Given the description of an element on the screen output the (x, y) to click on. 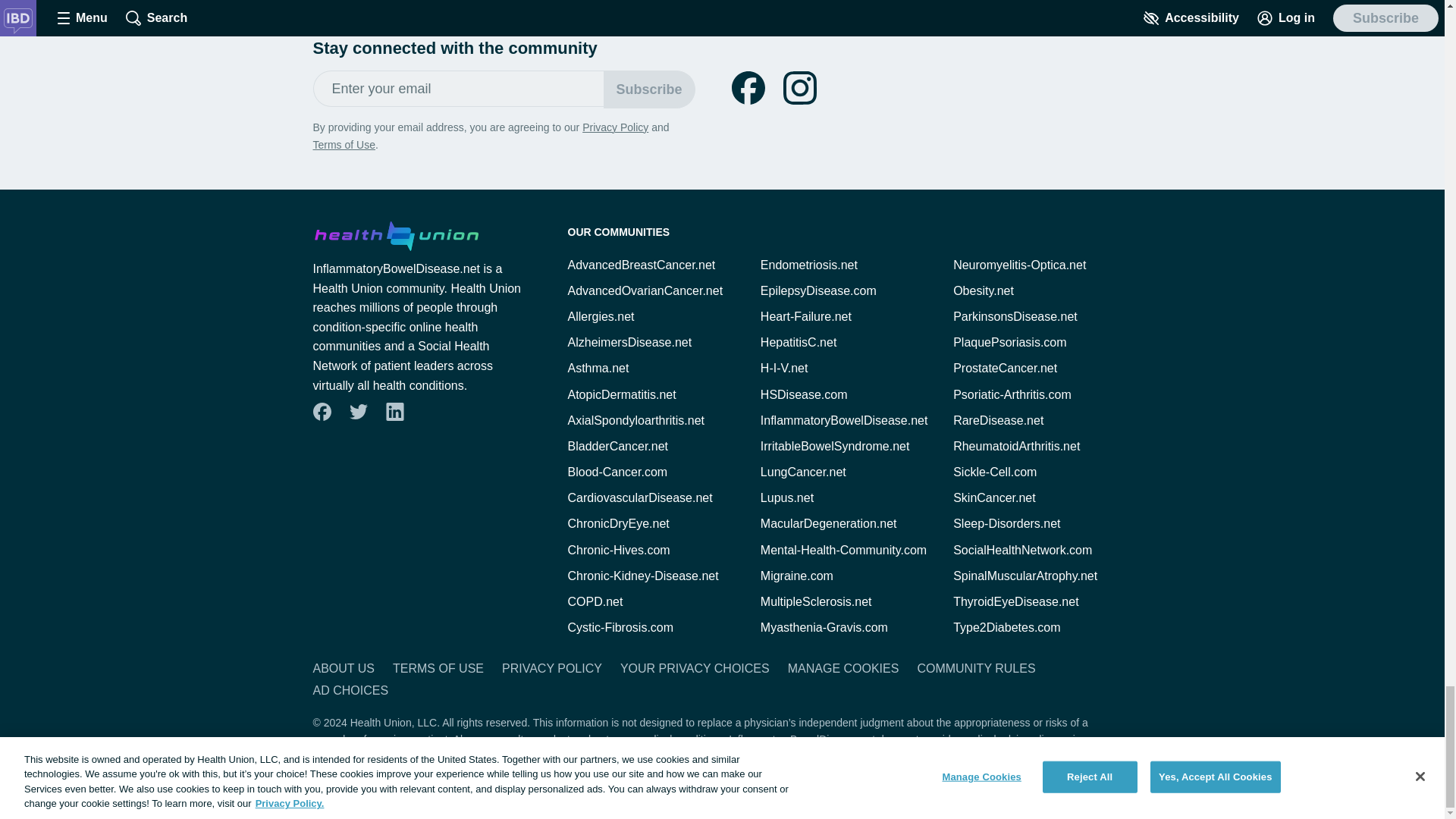
Follow us on linkedin (394, 411)
Follow us on facebook (747, 87)
Follow us on instagram (799, 87)
Follow us on twitter (357, 411)
Follow us on facebook (321, 411)
